Given the description of an element on the screen output the (x, y) to click on. 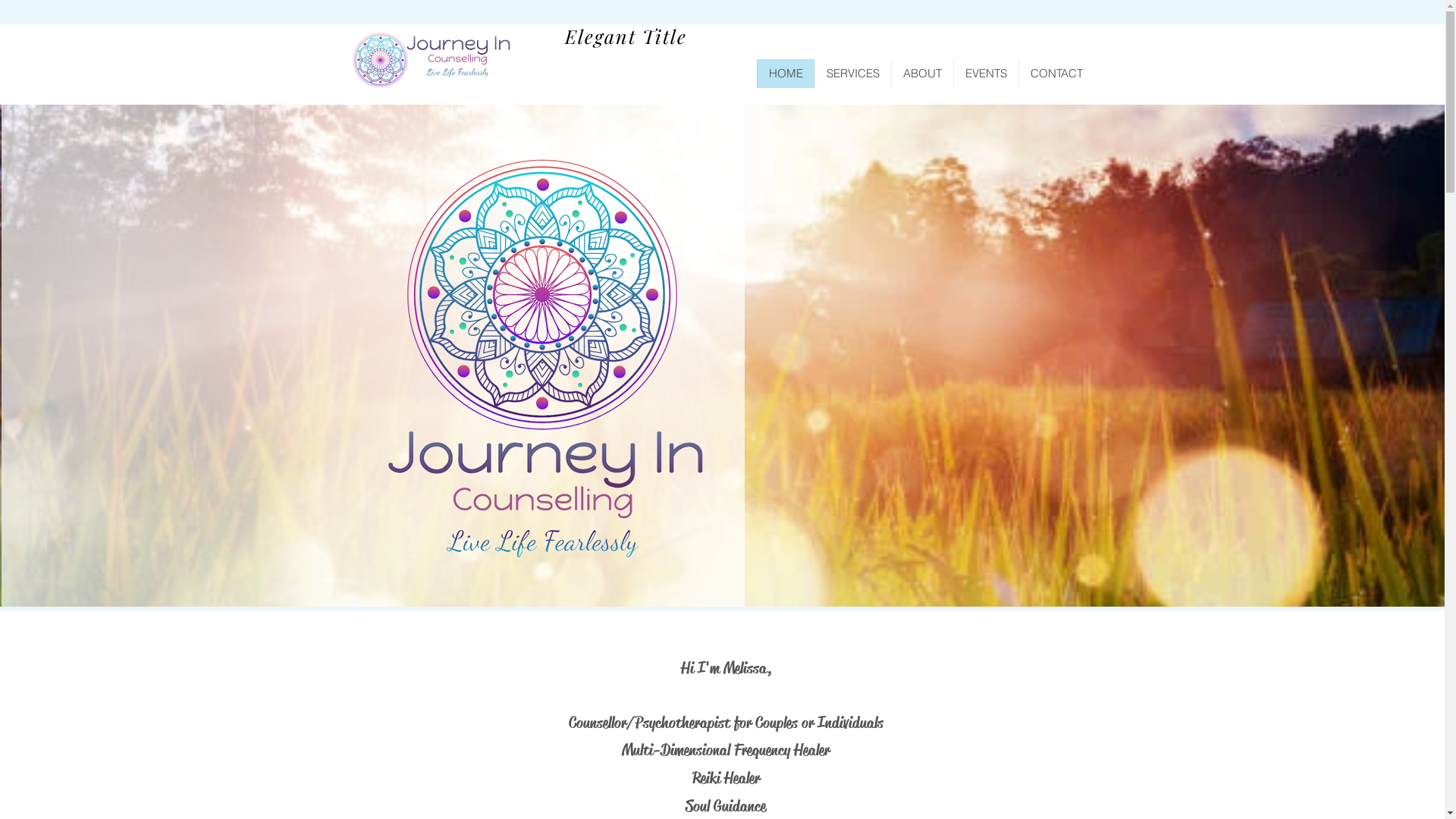
SERVICES Element type: text (852, 73)
EVENTS Element type: text (984, 73)
CONTACT Element type: text (1055, 73)
ABOUT Element type: text (921, 73)
HOME Element type: text (785, 73)
